Given the description of an element on the screen output the (x, y) to click on. 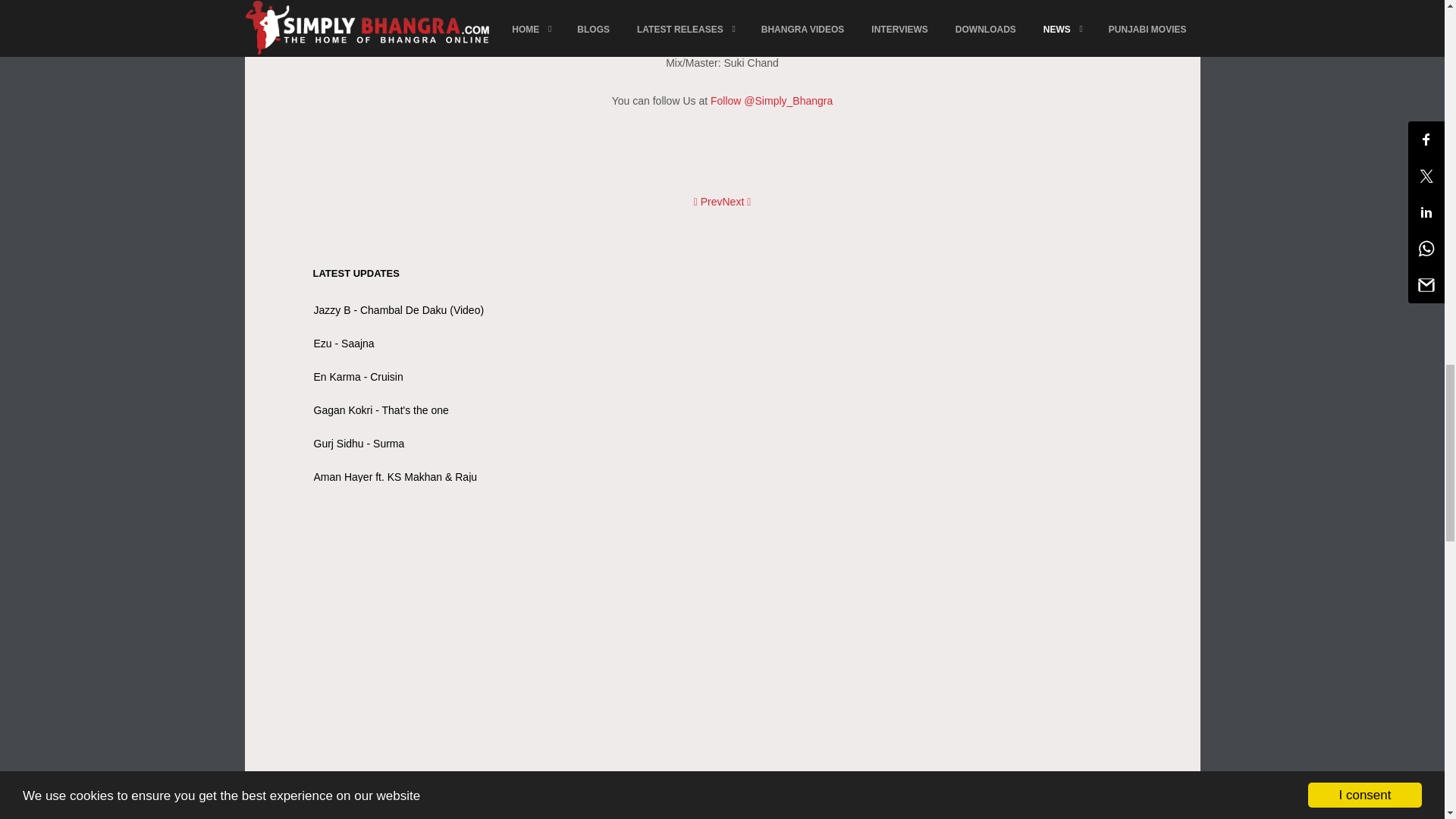
En Karma - Cruisin (358, 377)
Ezu - Saajna (344, 343)
Gagan Kokri - That's the one (381, 410)
Gurj Sidhu - Surma (359, 443)
